Given the description of an element on the screen output the (x, y) to click on. 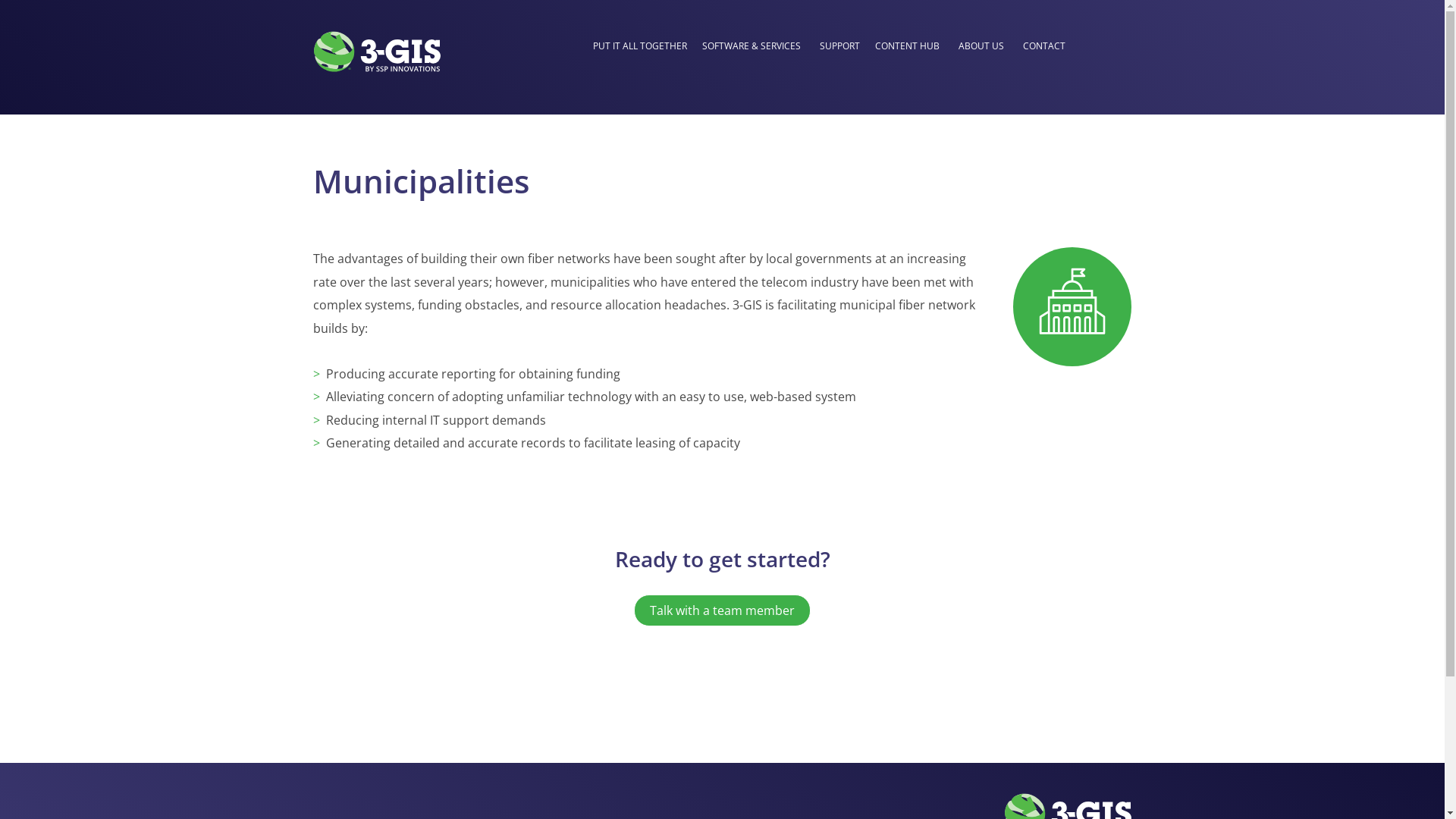
Talk with a team member Element type: text (721, 610)
PUT IT ALL TOGETHER Element type: text (640, 46)
CONTACT Element type: text (1043, 46)
ABOUT US Element type: text (981, 46)
CONTENT HUB Element type: text (907, 46)
SUPPORT Element type: text (839, 46)
SOFTWARE & SERVICES Element type: text (751, 46)
logo-landscape Element type: hover (376, 51)
